Given the description of an element on the screen output the (x, y) to click on. 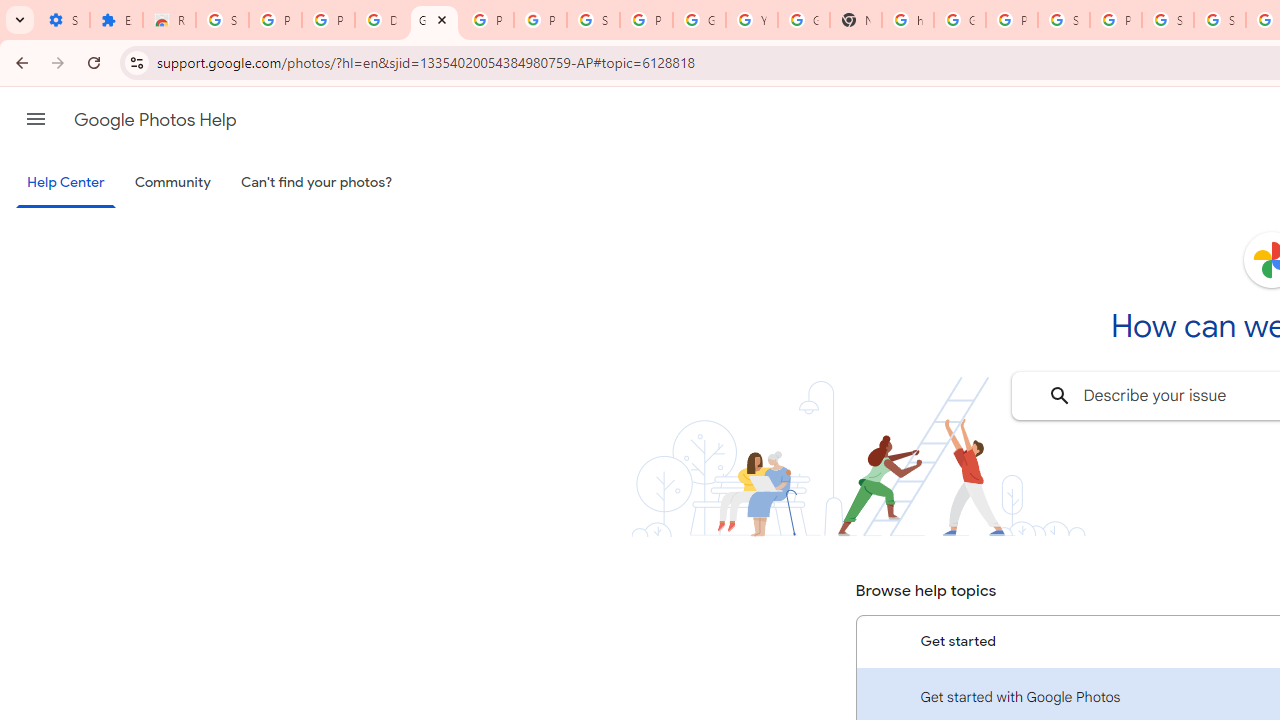
Sign in - Google Accounts (1219, 20)
Google Account (699, 20)
Main menu (35, 119)
New Tab (855, 20)
YouTube (751, 20)
Google Photos Help (434, 20)
Extensions (116, 20)
